Given the description of an element on the screen output the (x, y) to click on. 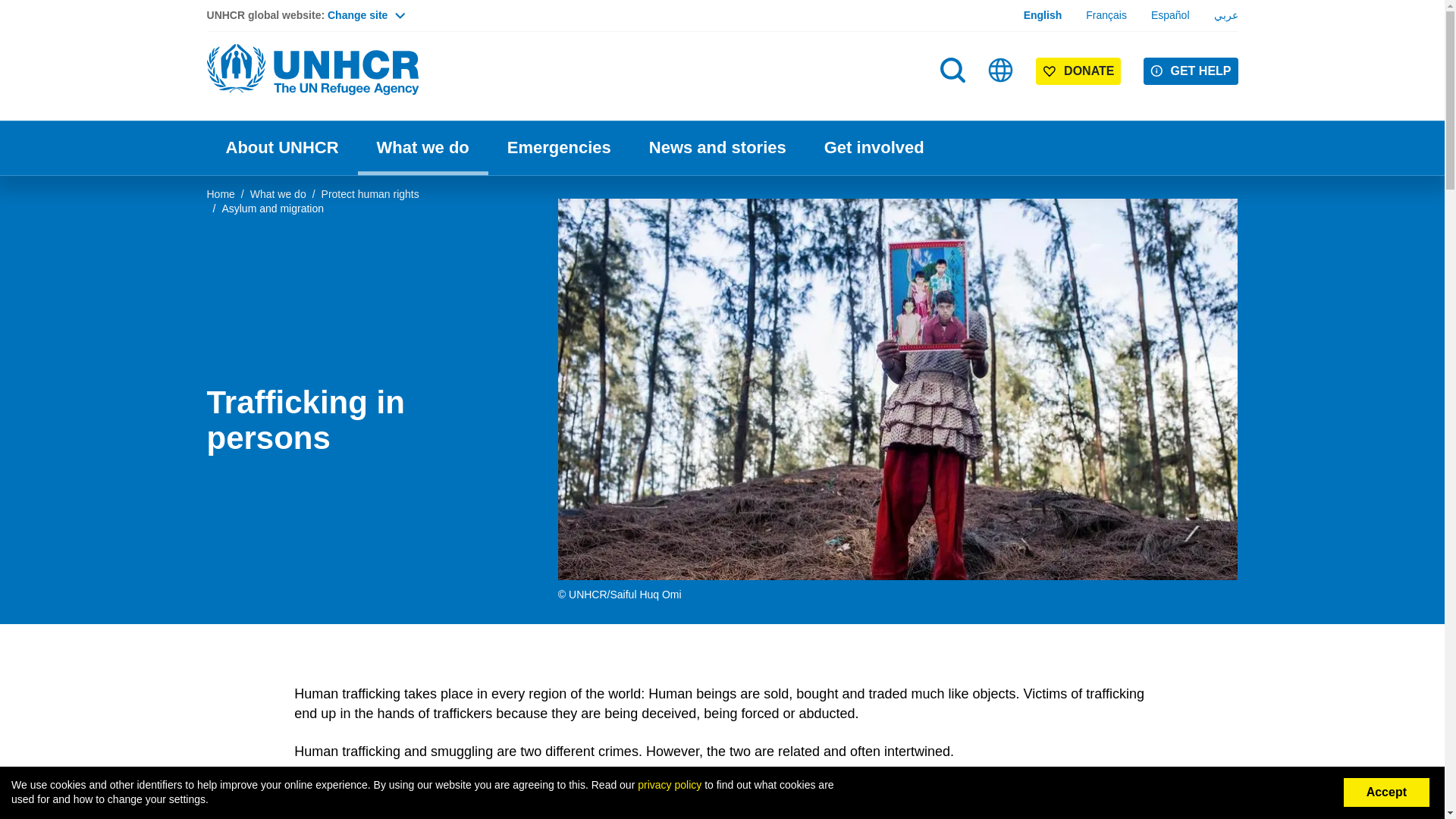
Search (954, 99)
GET HELP (1189, 71)
Sites (1000, 69)
Skip to main content (721, 1)
Change site (365, 15)
Home (312, 69)
About UNHCR (281, 148)
English (1042, 15)
DONATE (1078, 71)
Search (952, 69)
